Given the description of an element on the screen output the (x, y) to click on. 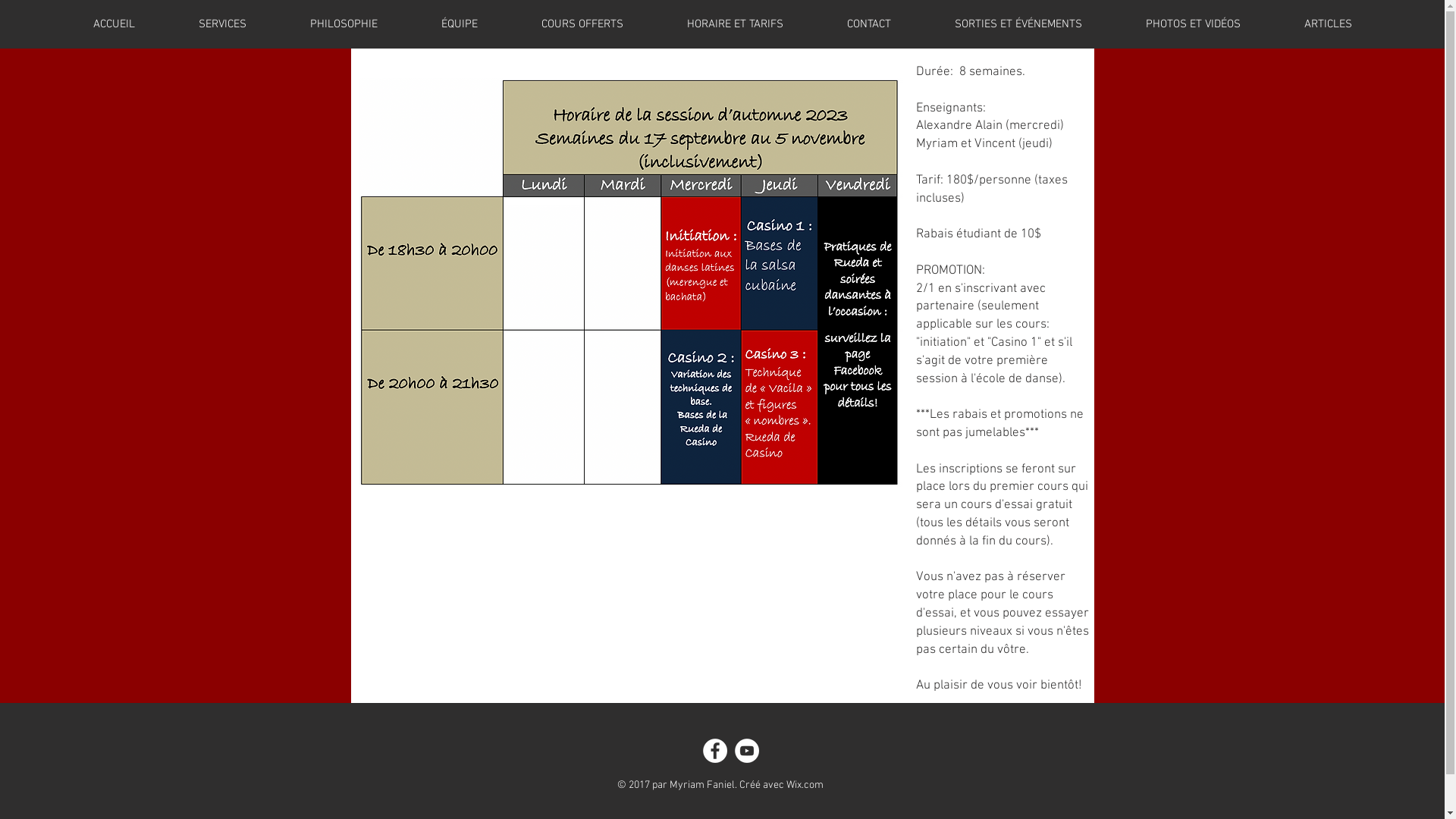
SERVICES Element type: text (222, 24)
HORAIRE ET TARIFS Element type: text (735, 24)
ARTICLES Element type: text (1327, 24)
ACCUEIL Element type: text (113, 24)
CONTACT Element type: text (868, 24)
PHILOSOPHIE Element type: text (343, 24)
Wix.com Element type: text (803, 784)
COURS OFFERTS Element type: text (582, 24)
